Given the description of an element on the screen output the (x, y) to click on. 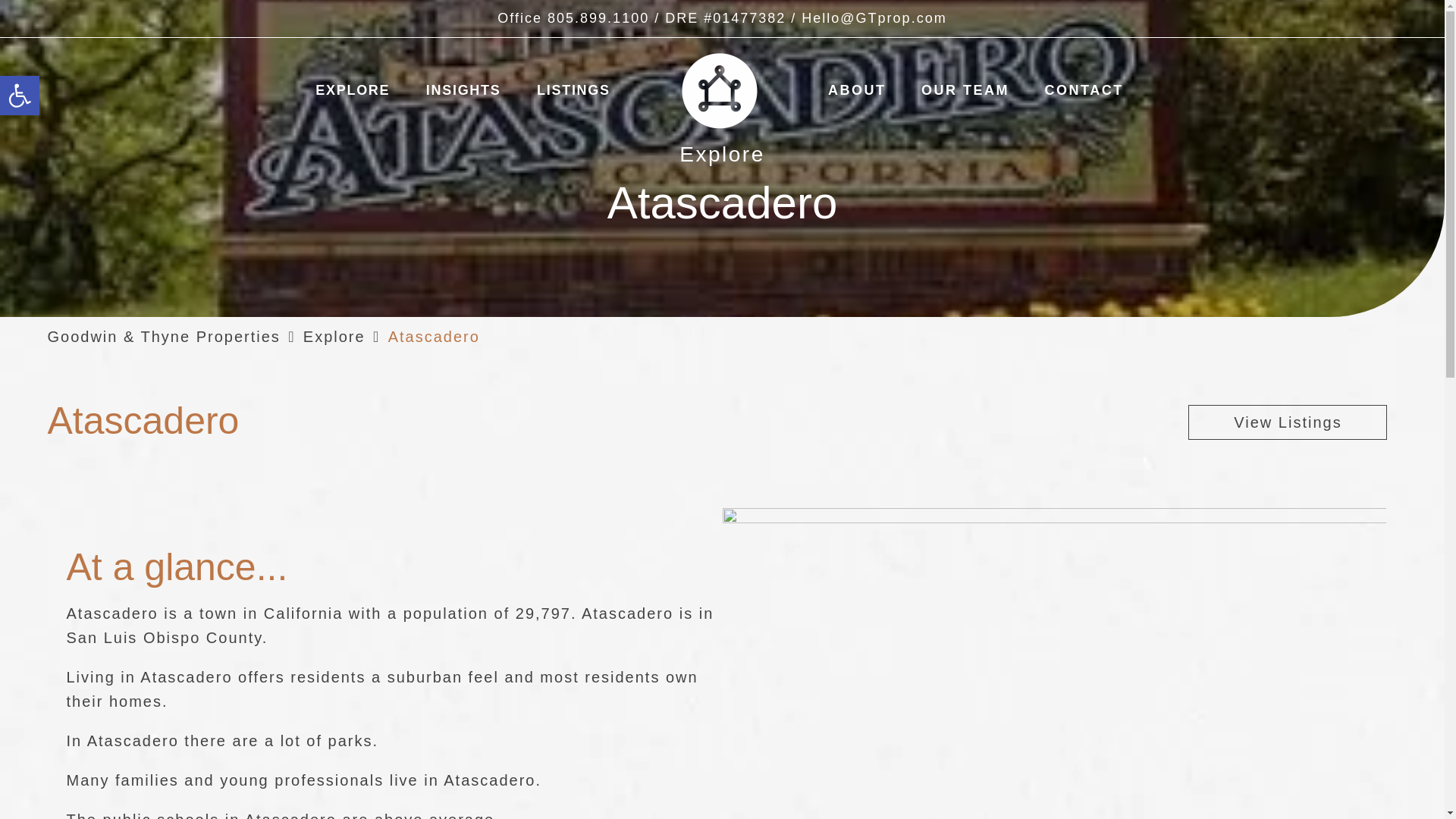
LISTINGS (572, 90)
OUR TEAM (965, 90)
INSIGHTS (462, 90)
Explore (333, 336)
ABOUT (857, 90)
EXPLORE (352, 90)
View Listings (1287, 421)
Accessibility Tools (19, 95)
Accessibility Tools (19, 95)
Explore (19, 95)
CONTACT (333, 336)
